Given the description of an element on the screen output the (x, y) to click on. 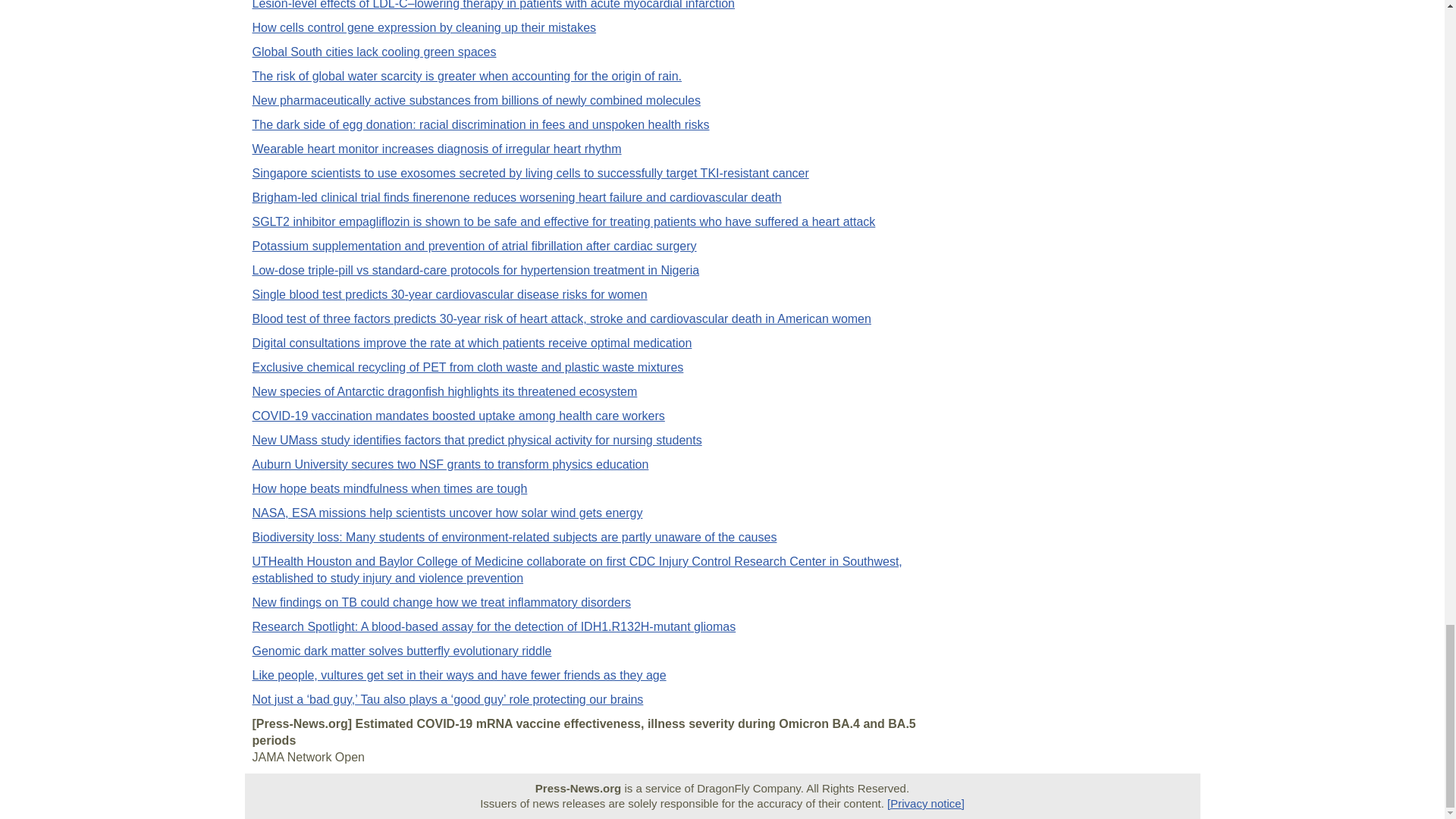
Global South cities lack cooling green spaces (373, 51)
